Given the description of an element on the screen output the (x, y) to click on. 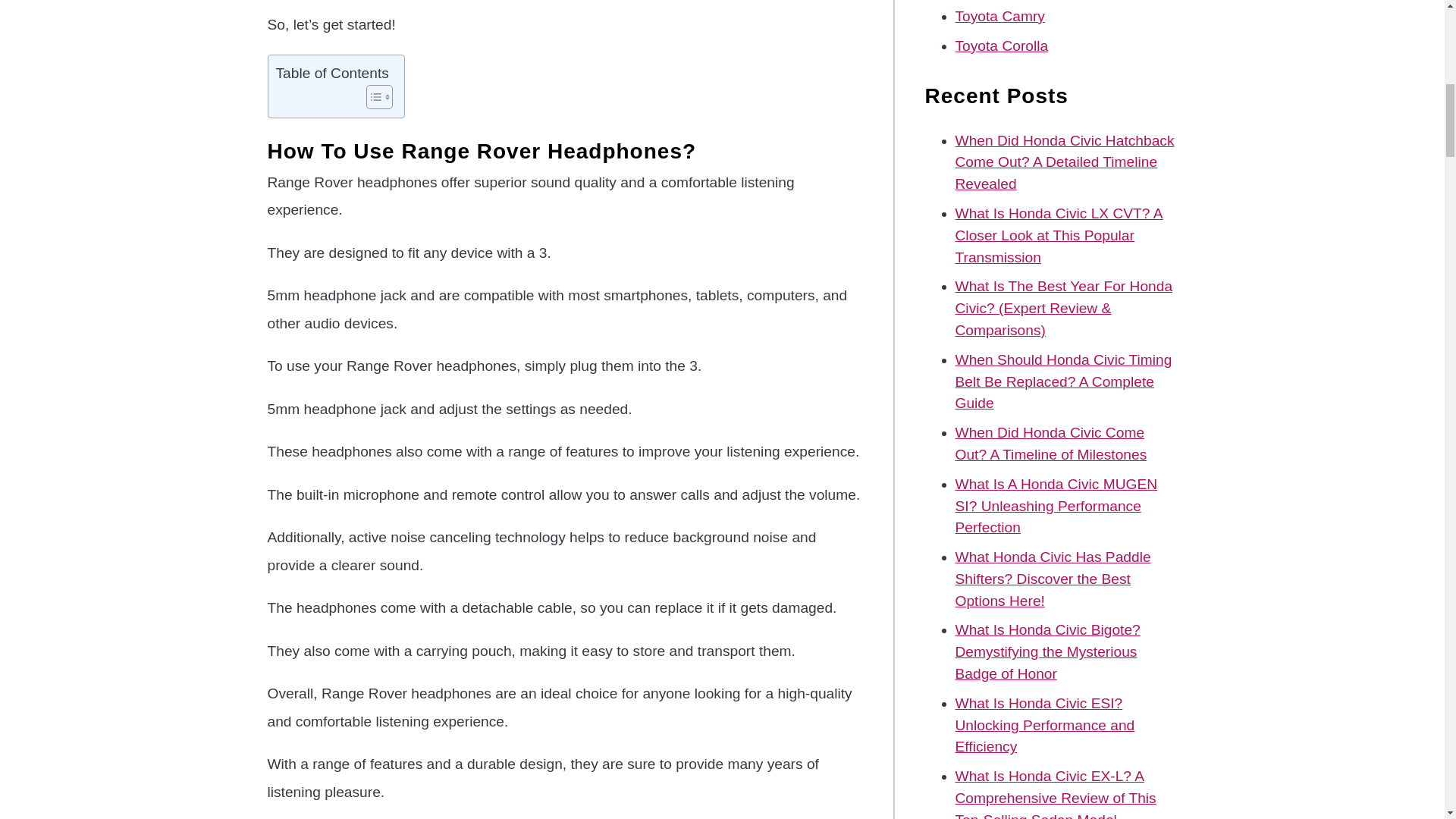
Toyota Corolla (1001, 45)
Toyota Camry (1000, 16)
